Given the description of an element on the screen output the (x, y) to click on. 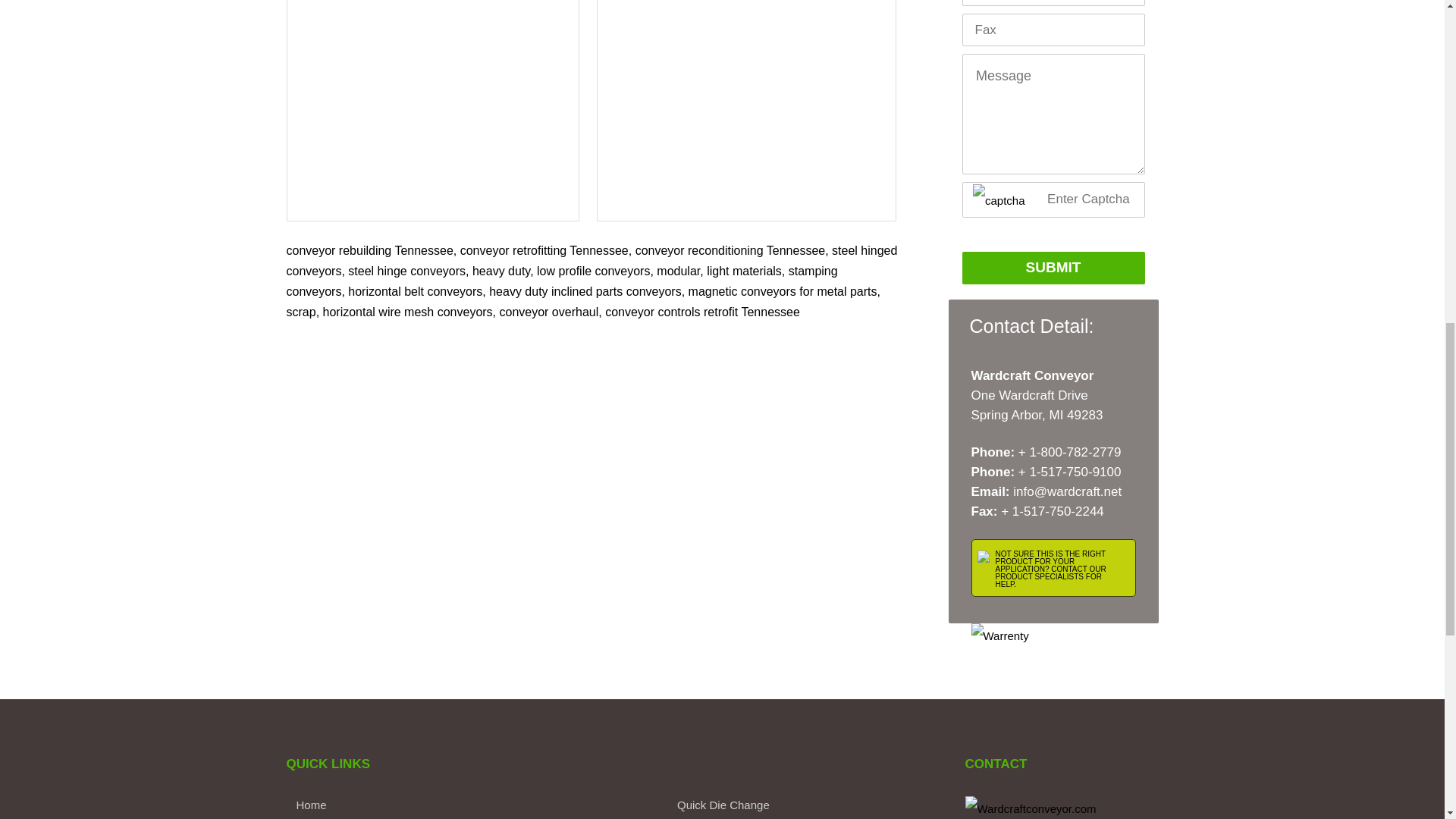
Submit (1052, 267)
Wardcraftconveyor.com (1029, 807)
Warrenty (999, 635)
